Given the description of an element on the screen output the (x, y) to click on. 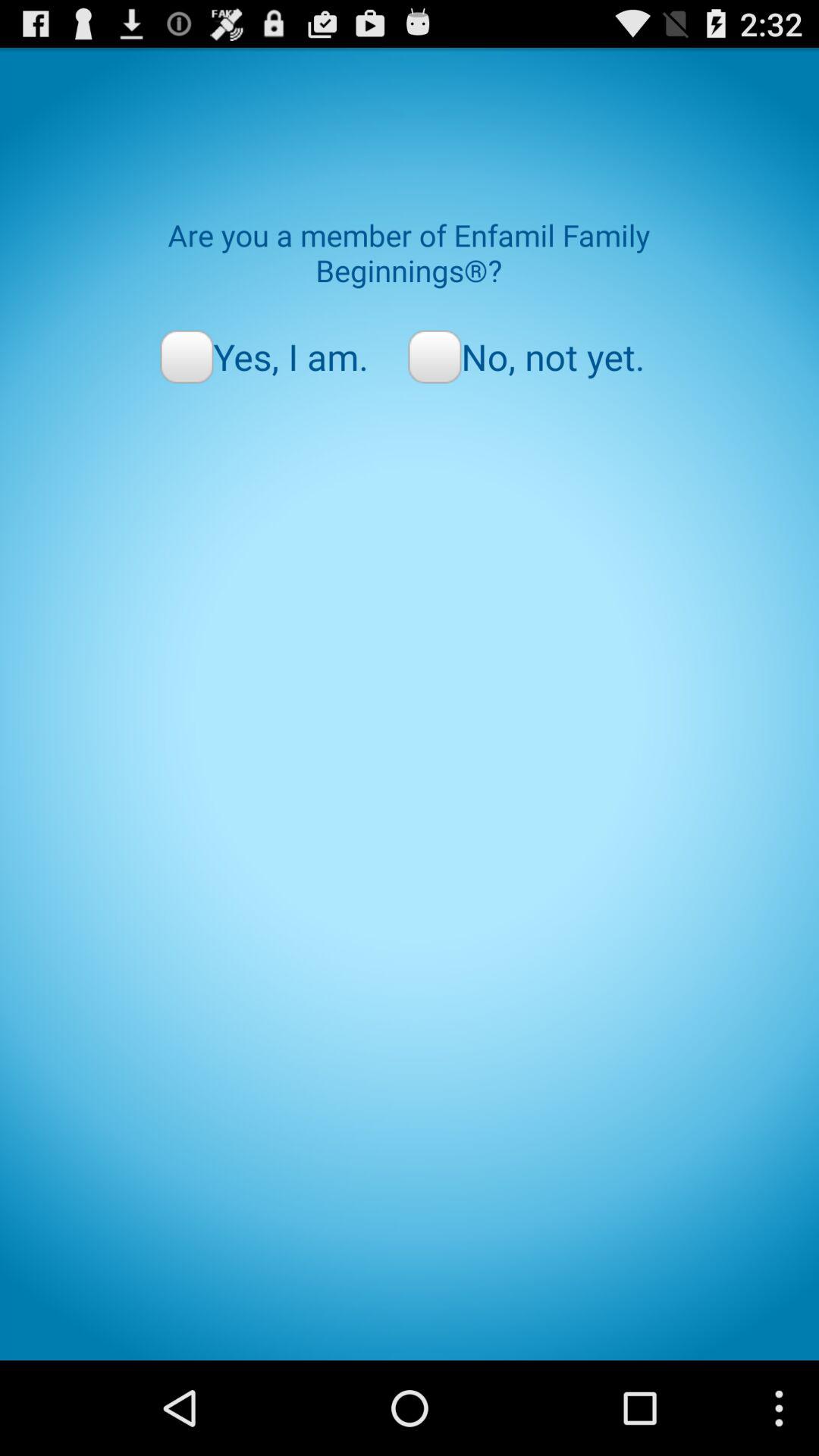
press yes, i am. radio button (264, 356)
